Given the description of an element on the screen output the (x, y) to click on. 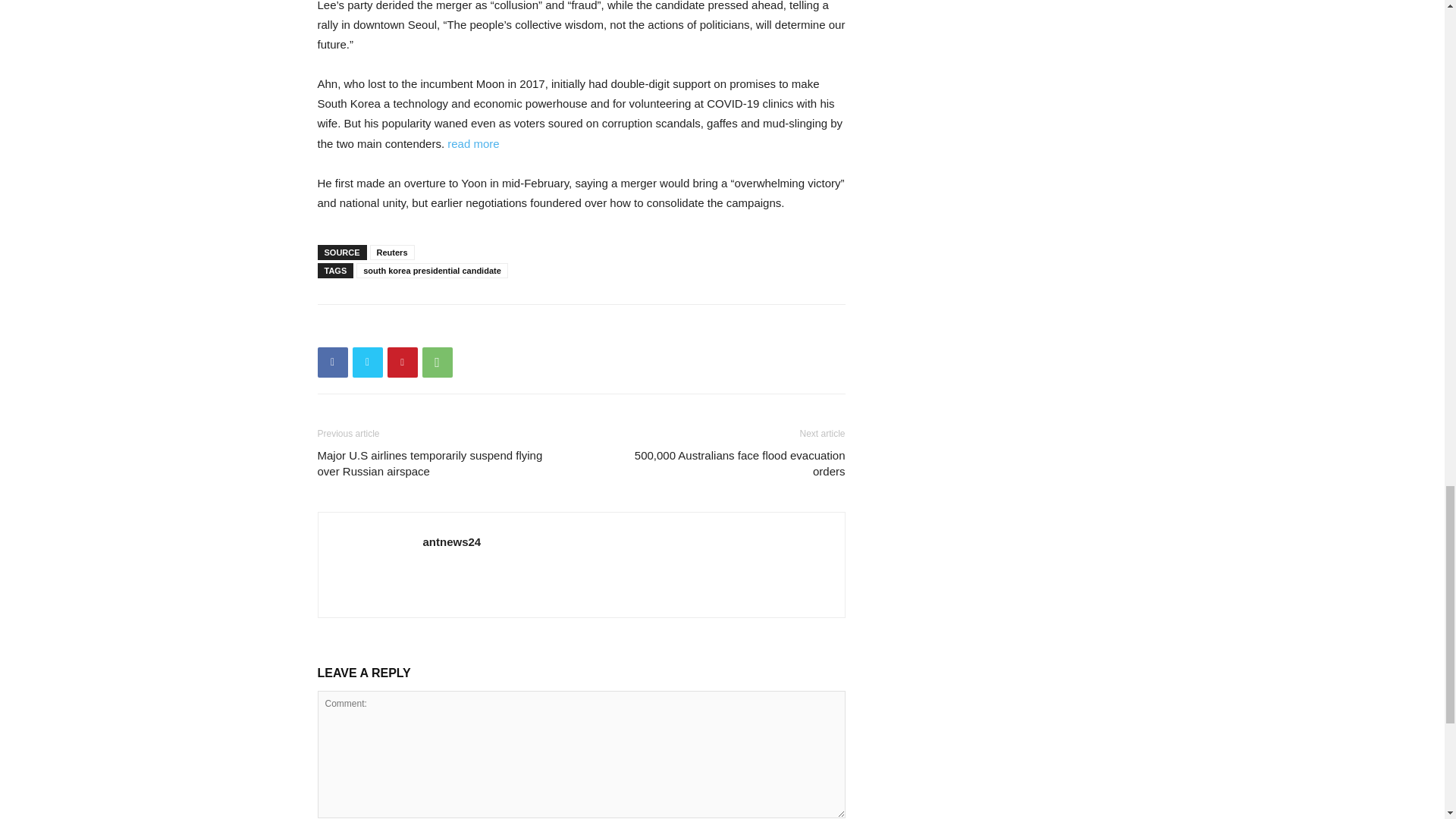
WhatsApp (436, 362)
south korea presidential candidate (432, 270)
Reuters (391, 252)
read more (472, 143)
antnews24 (452, 541)
Twitter (366, 362)
500,000 Australians face flood evacuation orders (721, 463)
Facebook (332, 362)
Pinterest (401, 362)
